Given the description of an element on the screen output the (x, y) to click on. 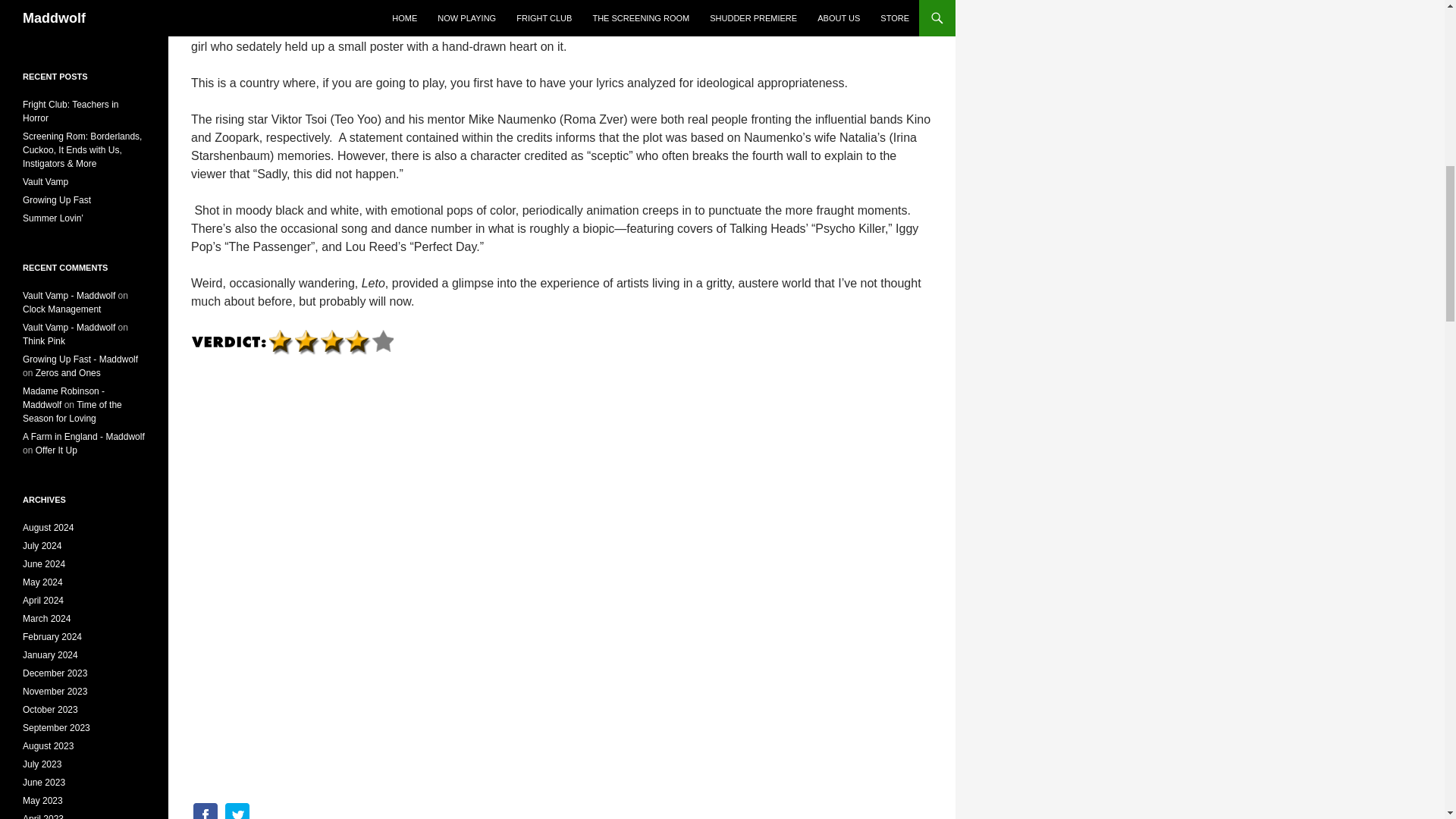
Banners for Top 20 Movie Blogs (84, 19)
Fright Club: Teachers in Horror (71, 111)
Vault Vamp (45, 181)
